Given the description of an element on the screen output the (x, y) to click on. 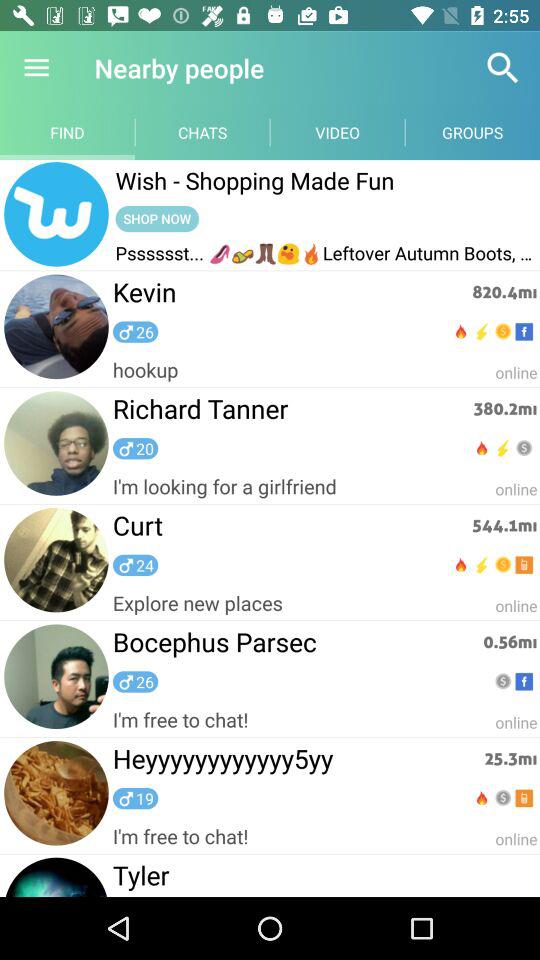
turn on icon next to nearby people (36, 68)
